Given the description of an element on the screen output the (x, y) to click on. 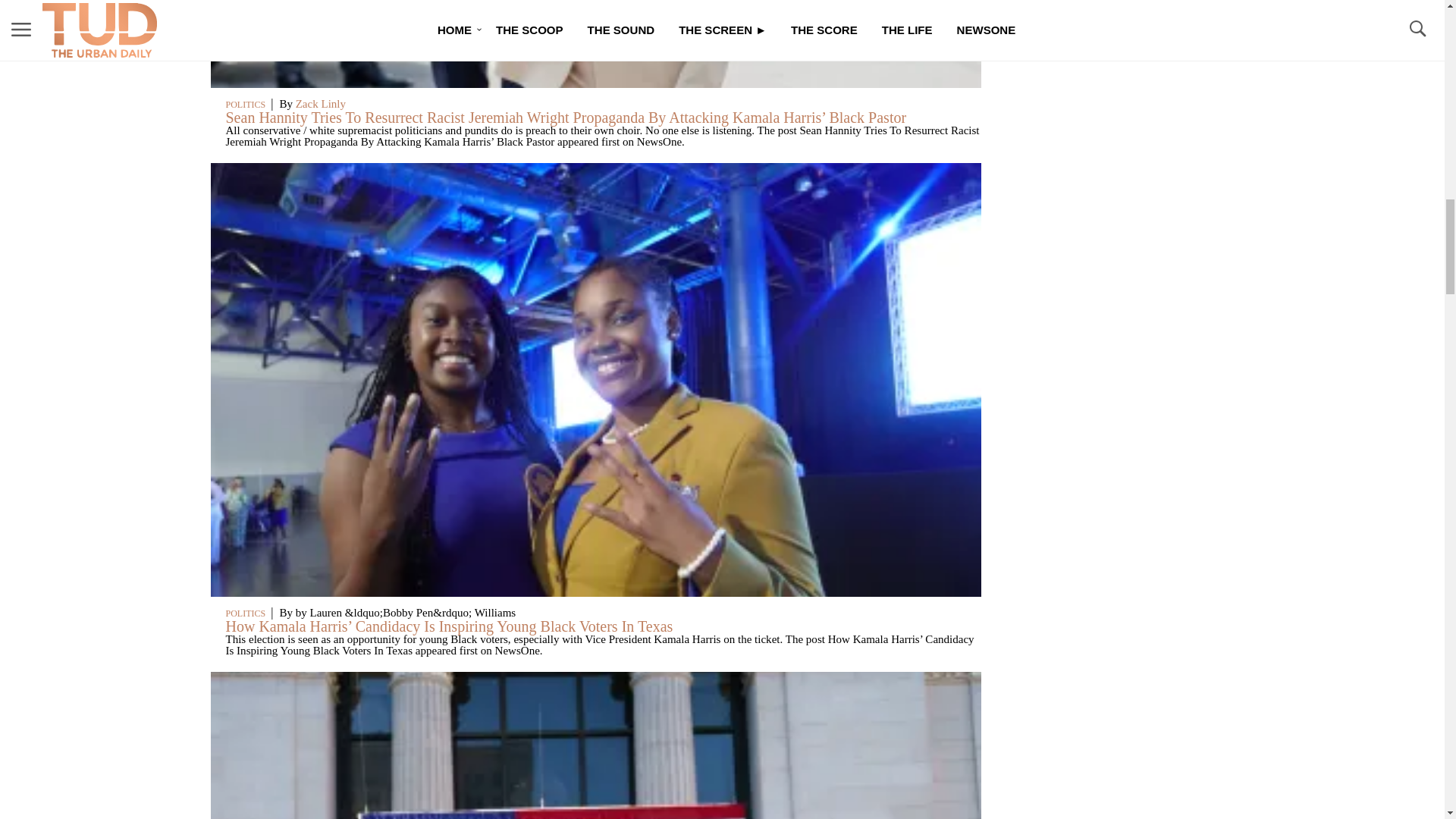
POLITICS (245, 613)
POLITICS (245, 104)
Zack Linly (320, 103)
